Given the description of an element on the screen output the (x, y) to click on. 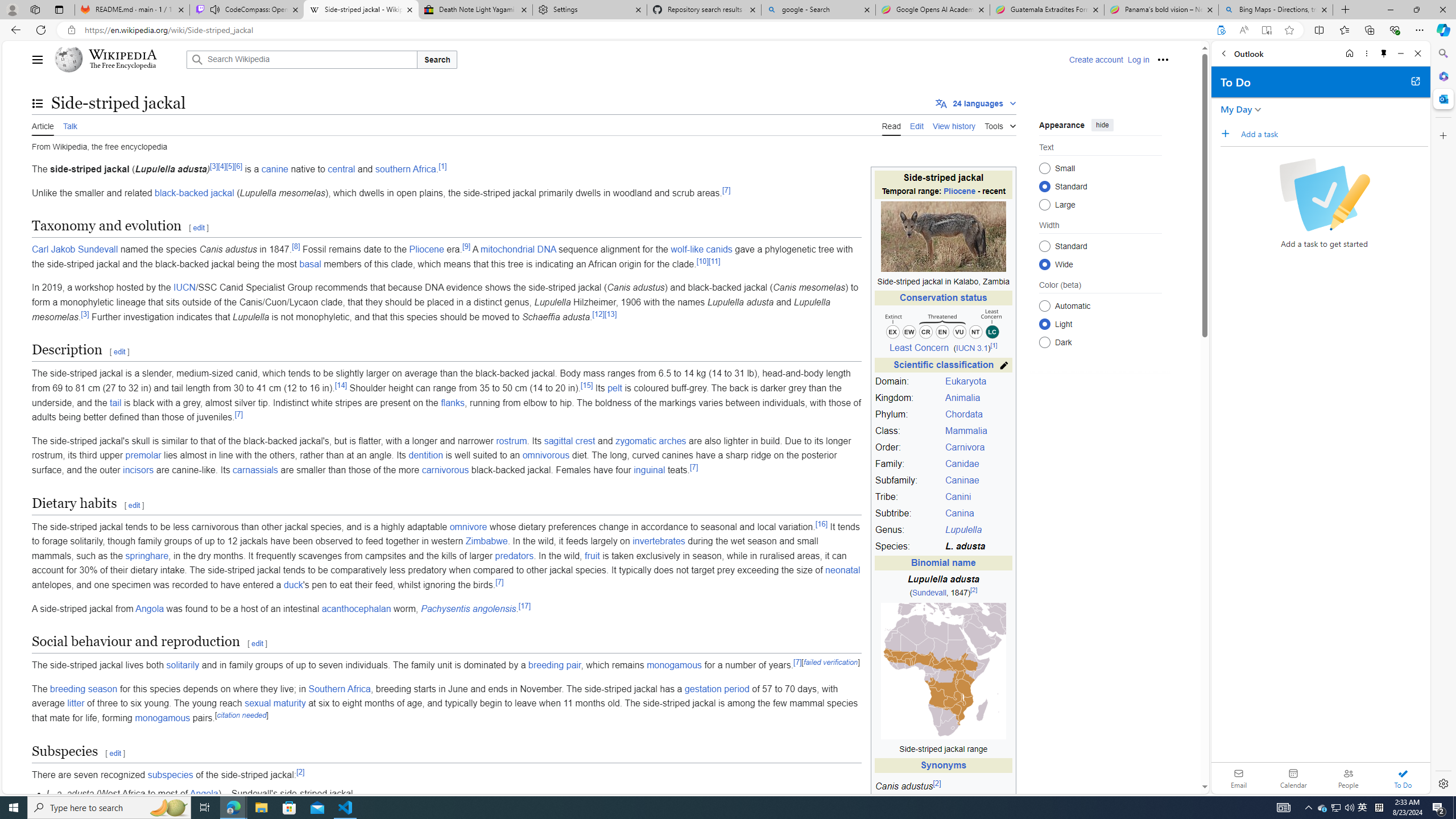
pelt (614, 387)
[2] (300, 771)
Carnivora (977, 447)
Mammalia (977, 430)
Canidae (961, 463)
neonatal (842, 570)
Side-striped jackal in Kalabo, Zambia (942, 281)
predators (514, 555)
Main menu (37, 59)
Carnivora (964, 447)
Create account (1095, 58)
Chordata (963, 414)
Lupulella adusta (Sundevall, 1847)[2] (942, 586)
